Given the description of an element on the screen output the (x, y) to click on. 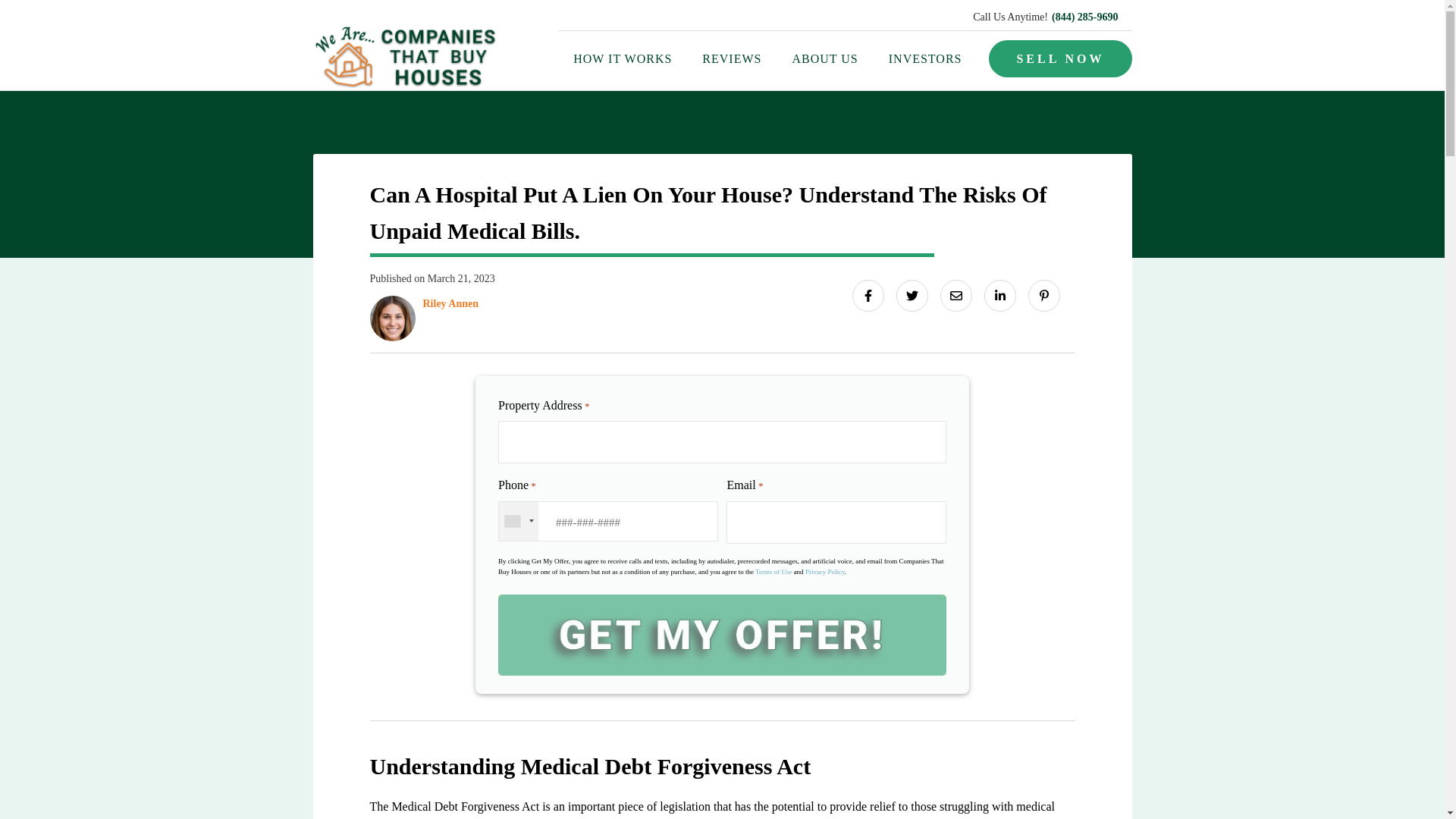
Share via Email (956, 296)
HOW IT WORKS (622, 58)
Share on LinkedIn (1000, 296)
Share on Twitter (912, 296)
Privacy Policy (824, 571)
Riley Annen (451, 303)
Share on Facebook (867, 296)
Terms of Use (773, 571)
REVIEWS (731, 58)
INVESTORS (924, 58)
ABOUT US (824, 58)
SELL NOW (1059, 58)
Pin it (1043, 296)
